Given the description of an element on the screen output the (x, y) to click on. 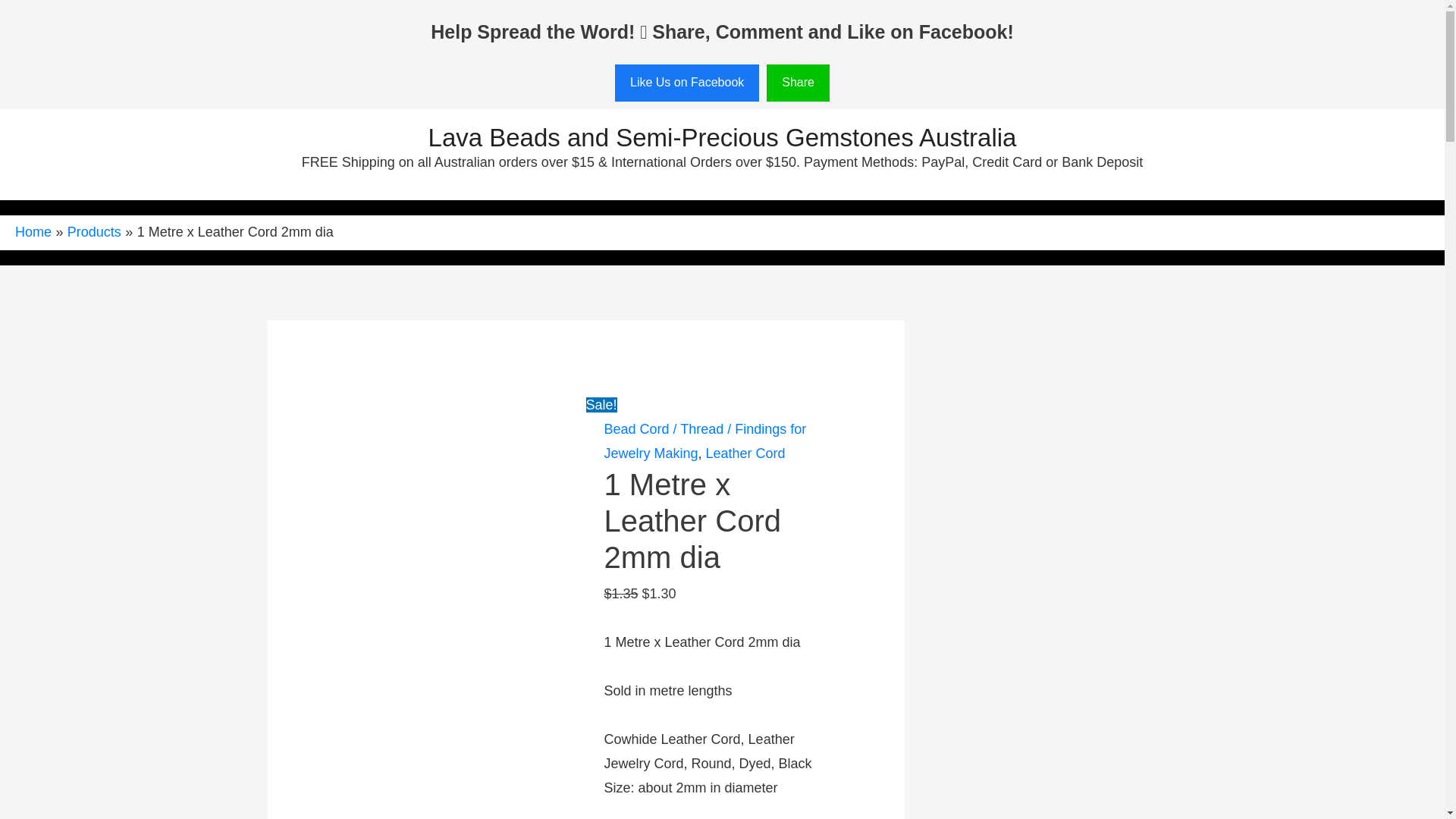
Like Us on Facebook (686, 82)
Share (798, 82)
Lava Beads and Semi-Precious Gemstones Australia (722, 137)
Home (32, 231)
